Given the description of an element on the screen output the (x, y) to click on. 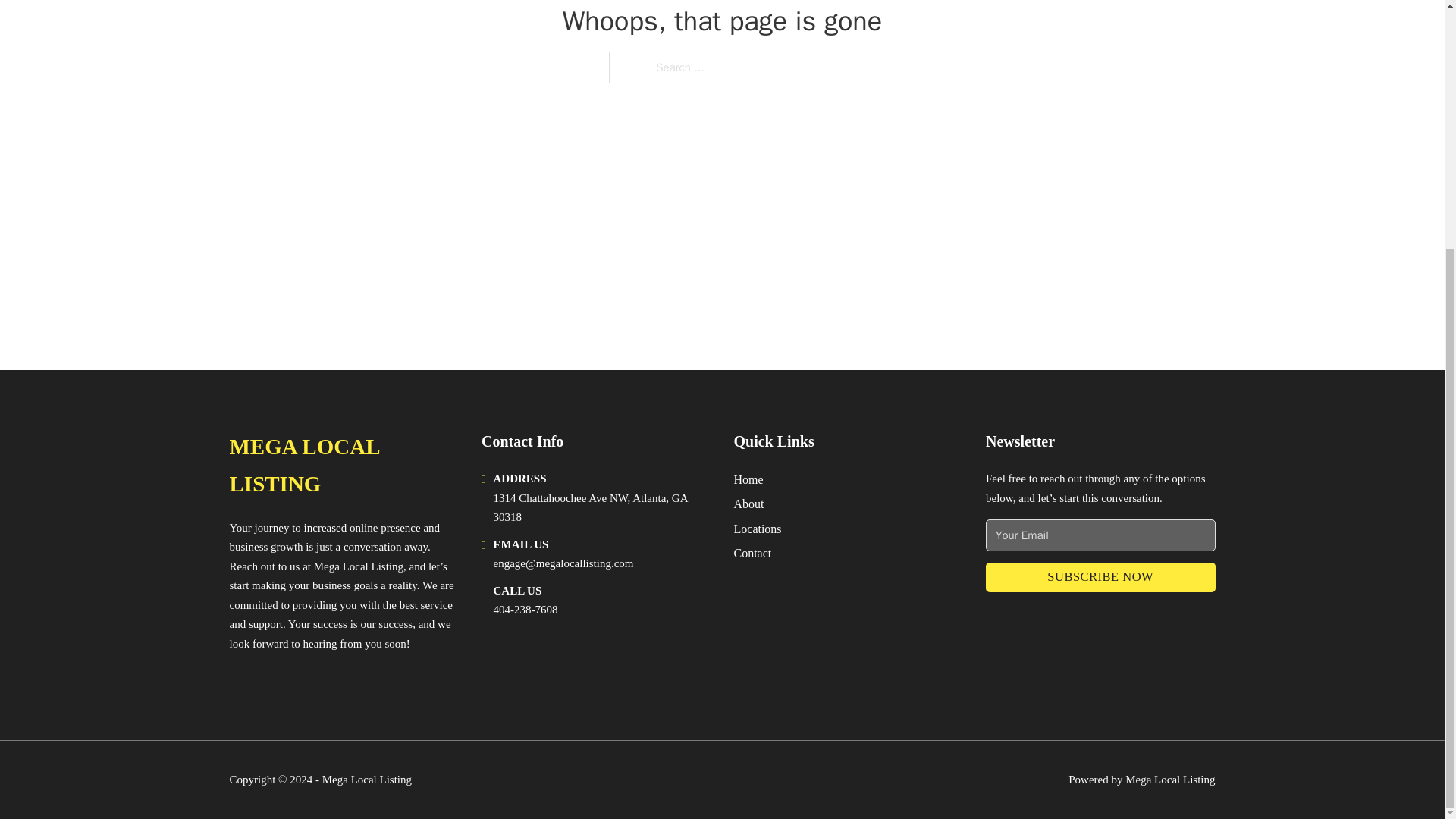
Locations (757, 528)
404-238-7608 (525, 609)
SUBSCRIBE NOW (1100, 577)
Contact (752, 552)
MEGA LOCAL LISTING (343, 465)
Home (747, 479)
About (748, 503)
